Given the description of an element on the screen output the (x, y) to click on. 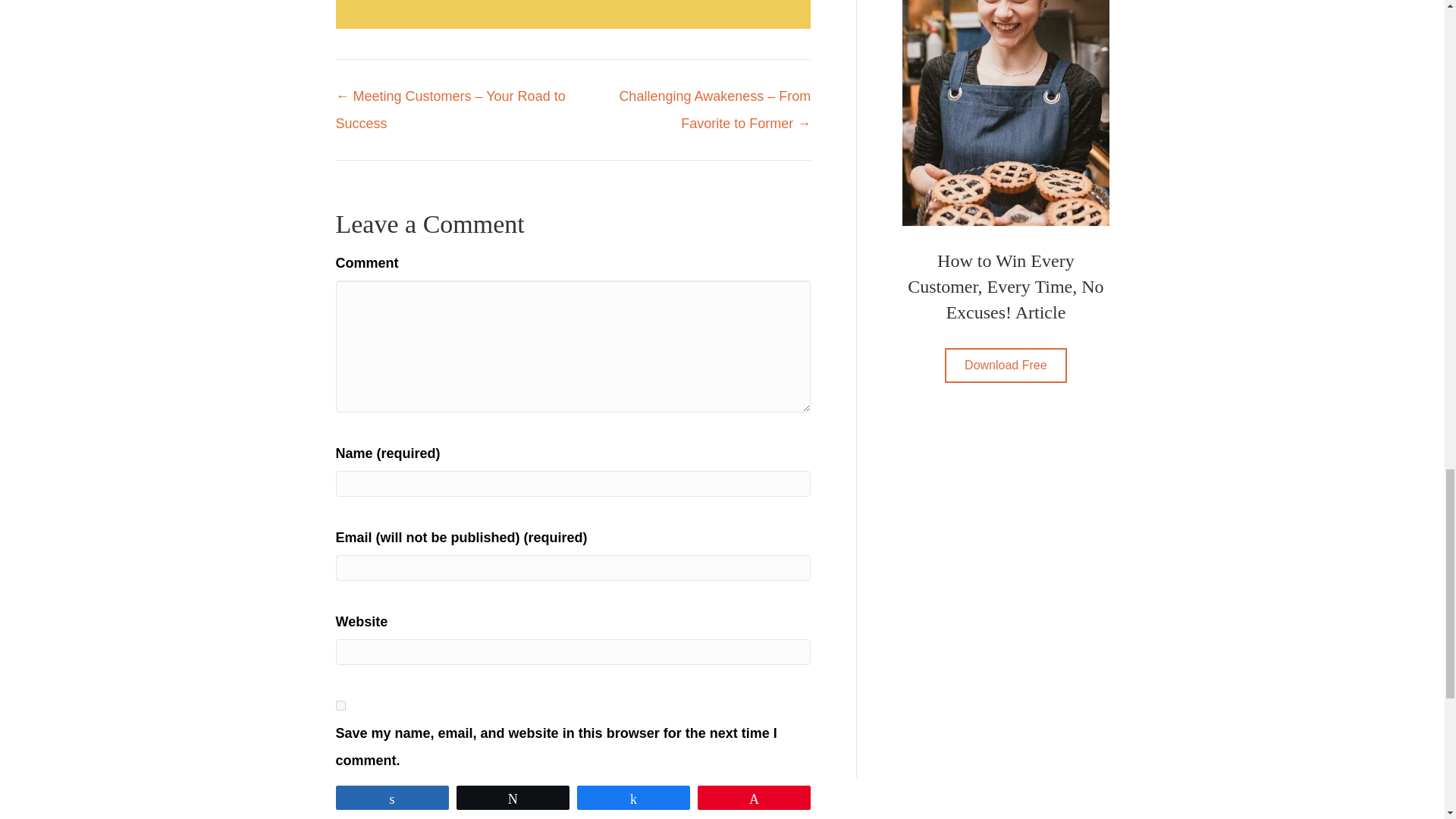
Download Free (1005, 365)
Click Here (1005, 365)
How to Win Every Customer, Every Time, No Excuses! Article (1005, 113)
yes (339, 705)
Submit Comment (397, 799)
Submit Comment (397, 799)
